Given the description of an element on the screen output the (x, y) to click on. 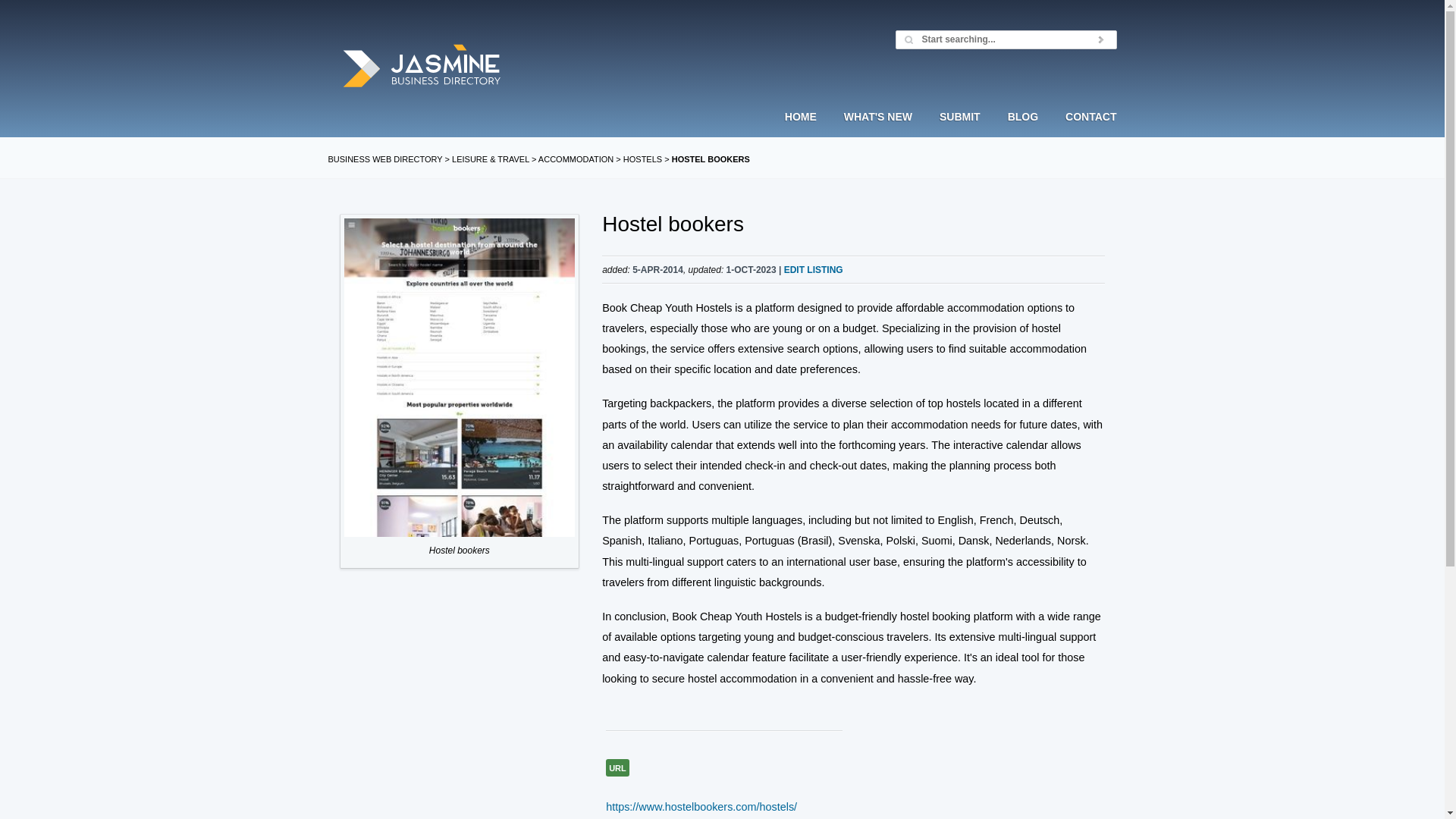
ACCOMMODATION (575, 158)
WHAT'S NEW (877, 130)
SUBMIT (960, 130)
CONTACT (1083, 130)
EDIT LISTING (813, 269)
BLOG (1022, 130)
HOSTELS (642, 158)
BUSINESS WEB DIRECTORY (384, 158)
HOME (806, 130)
Jasmine Directory (421, 66)
